Given the description of an element on the screen output the (x, y) to click on. 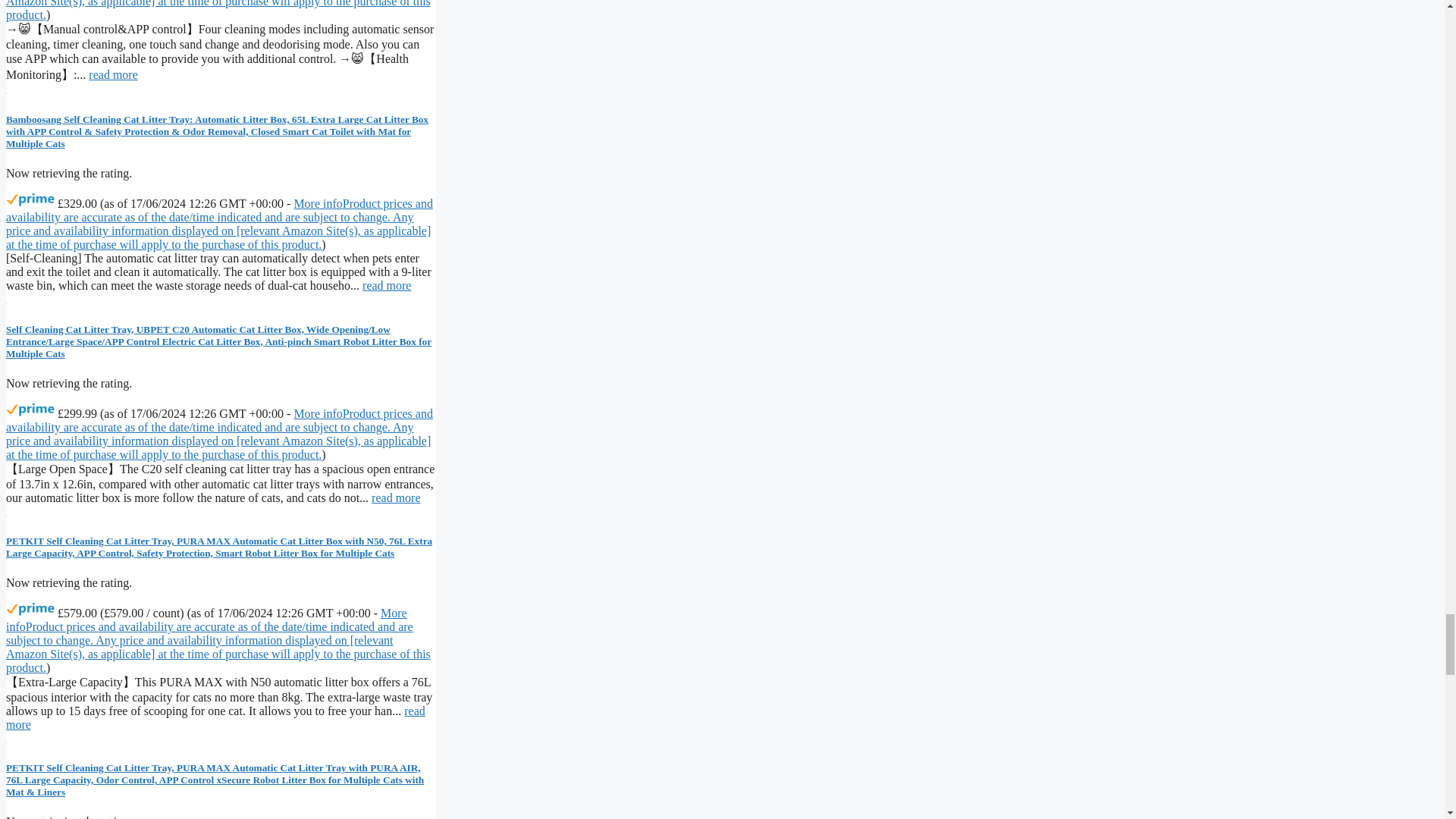
Available for Amazon Prime (30, 609)
Available for Amazon Prime (30, 409)
Available for Amazon Prime (30, 200)
